Given the description of an element on the screen output the (x, y) to click on. 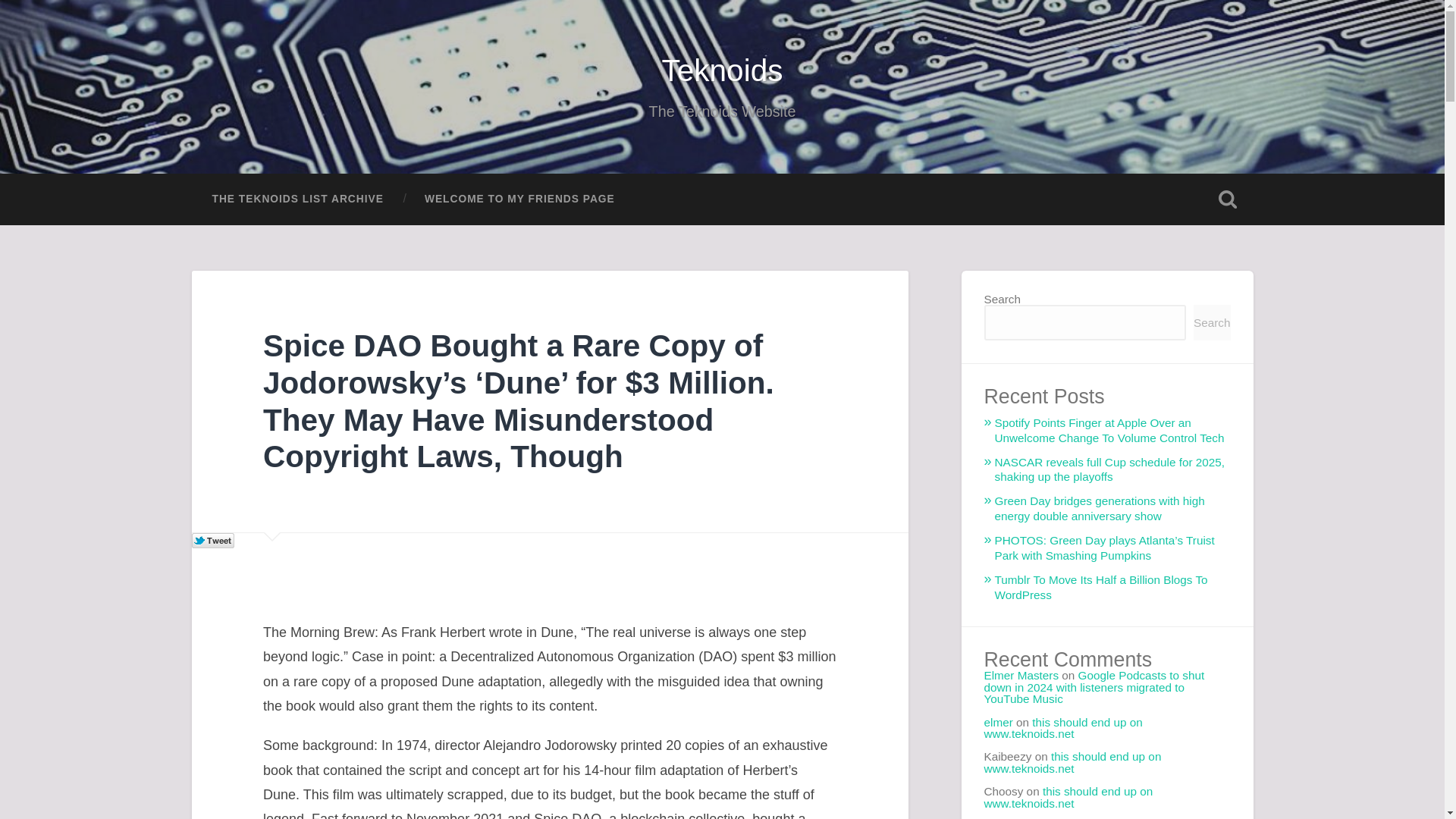
this should end up on www.teknoids.net (1063, 727)
elmer (998, 721)
this should end up on www.teknoids.net (1068, 796)
WELCOME TO MY FRIENDS PAGE (519, 199)
Tumblr To Move Its Half a Billion Blogs To WordPress (1101, 587)
this should end up on www.teknoids.net (1072, 761)
Elmer Masters (1021, 675)
